Given the description of an element on the screen output the (x, y) to click on. 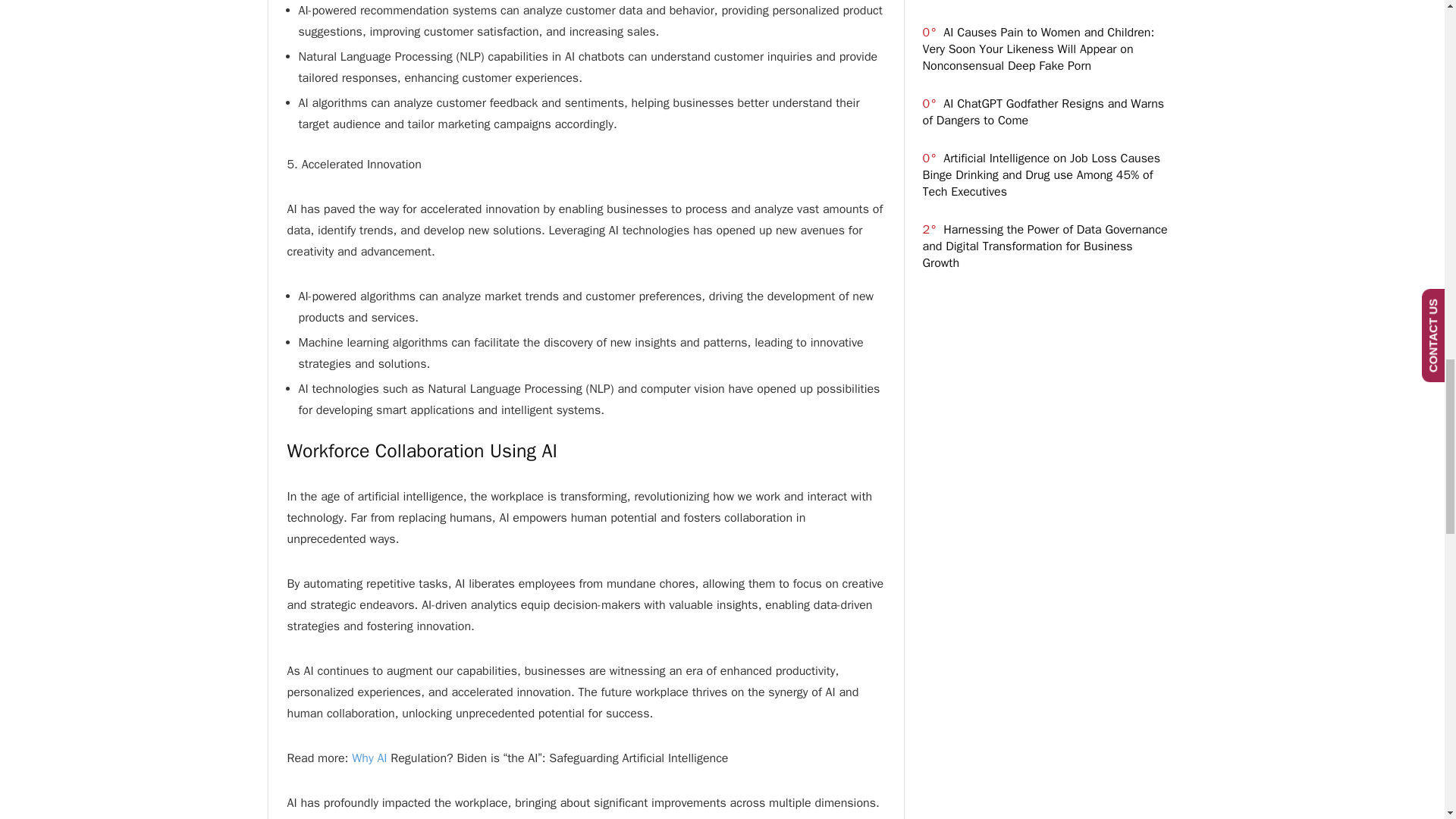
Why AI (369, 758)
